Given the description of an element on the screen output the (x, y) to click on. 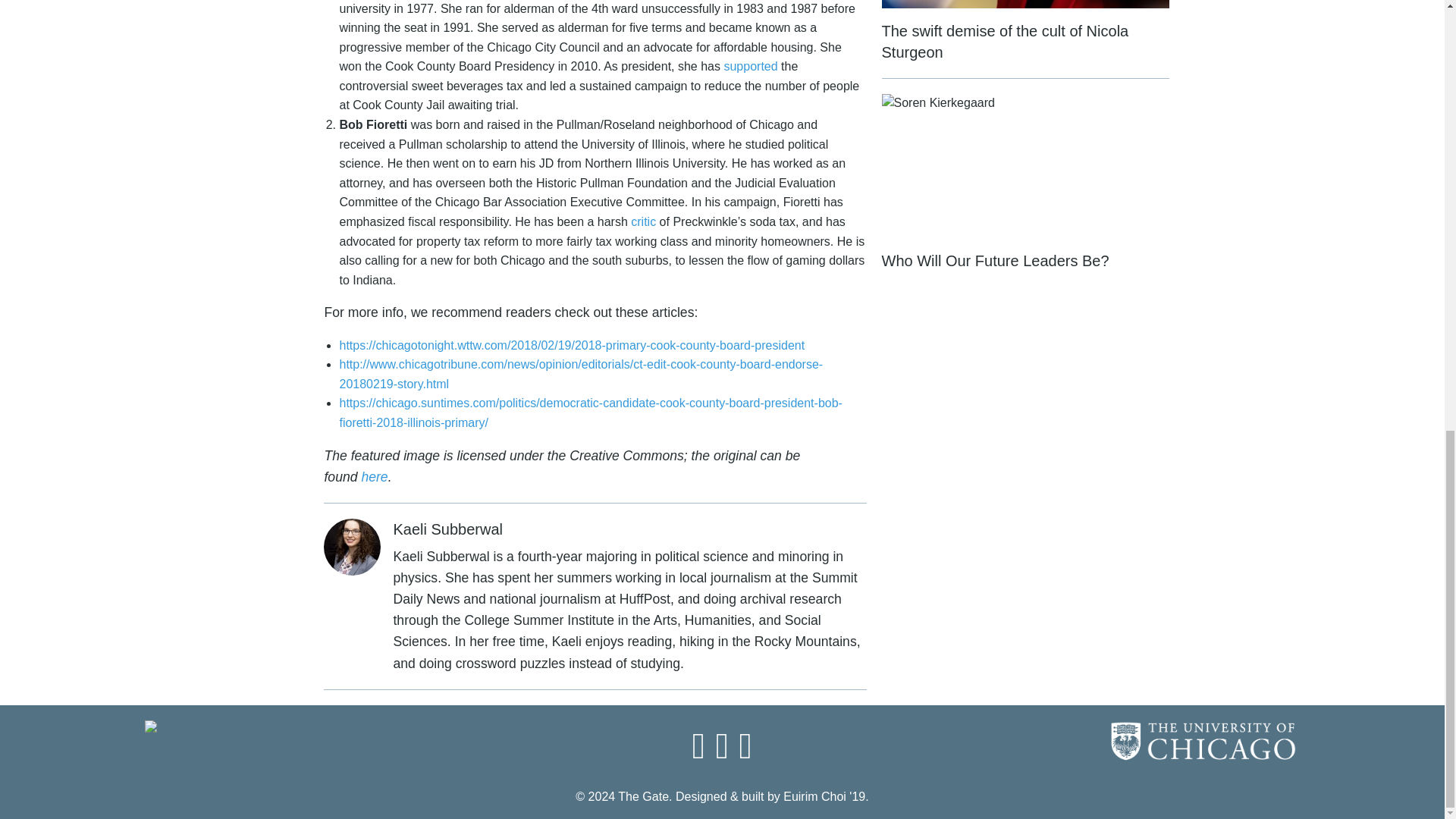
here (374, 476)
The swift demise of the cult of Nicola Sturgeon (1024, 39)
Who Will Our Future Leaders Be? (1024, 182)
supported (750, 65)
critic (643, 221)
